Given the description of an element on the screen output the (x, y) to click on. 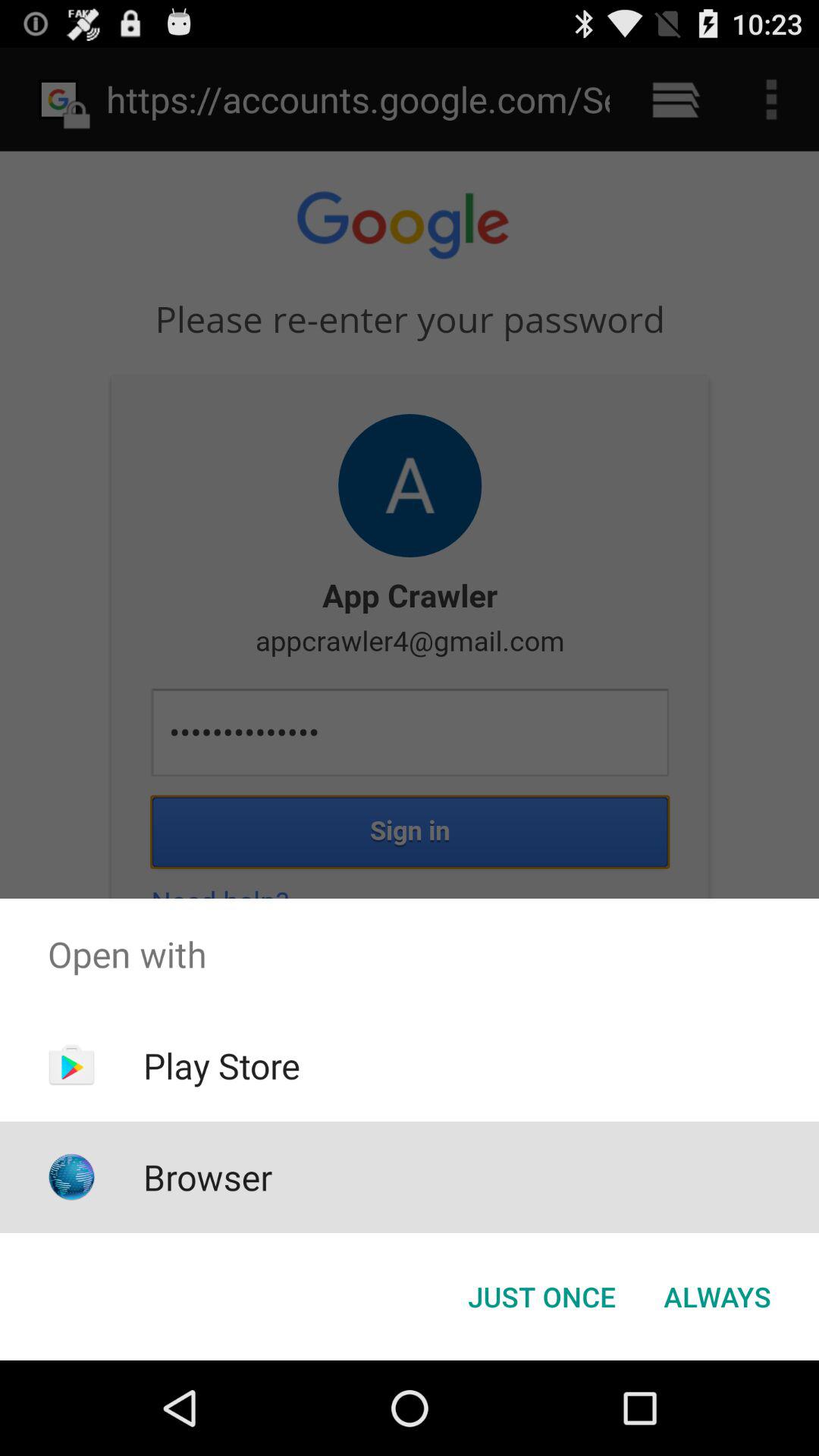
select always at the bottom right corner (717, 1296)
